Given the description of an element on the screen output the (x, y) to click on. 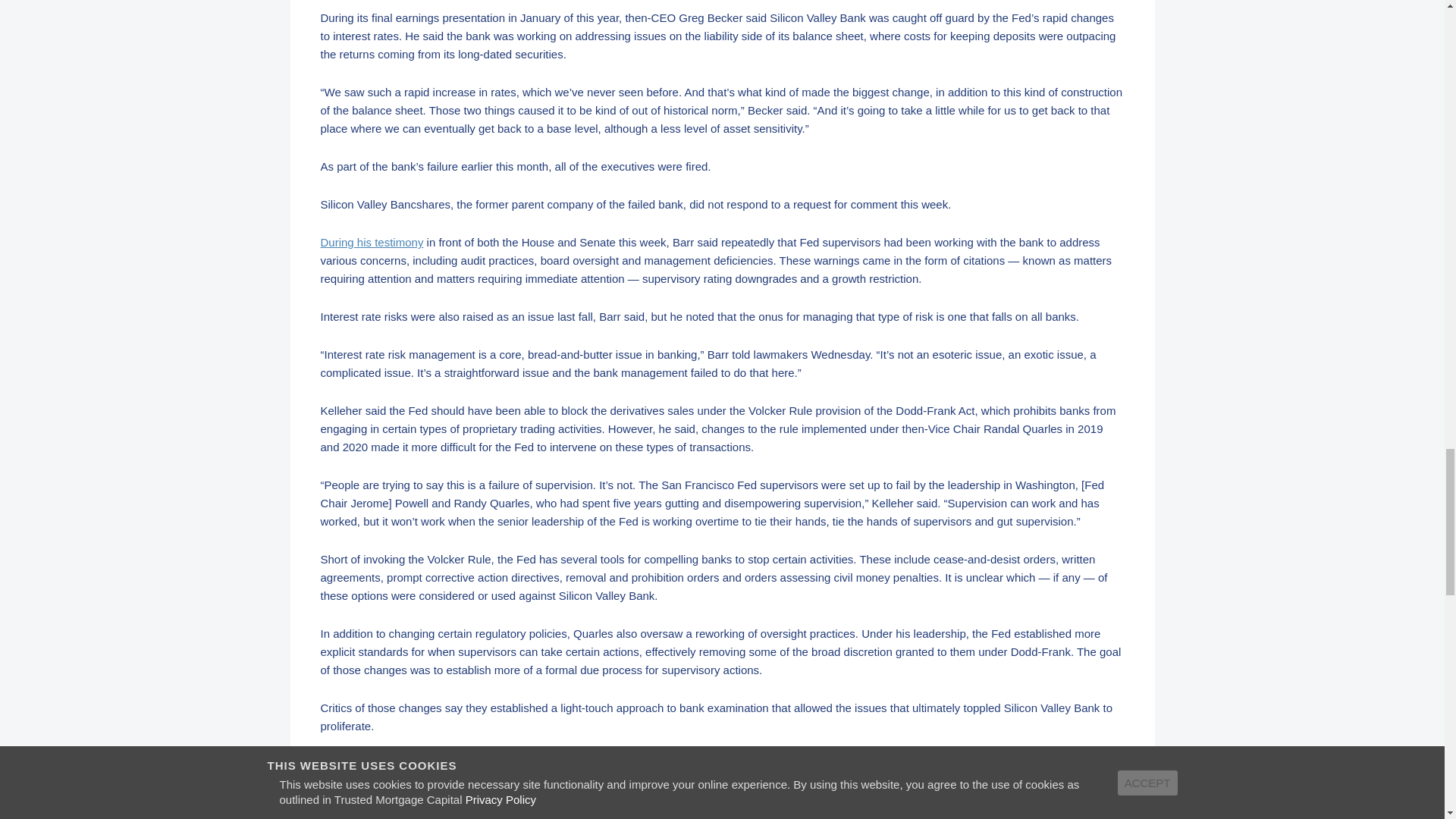
During his testimony (371, 241)
